Given the description of an element on the screen output the (x, y) to click on. 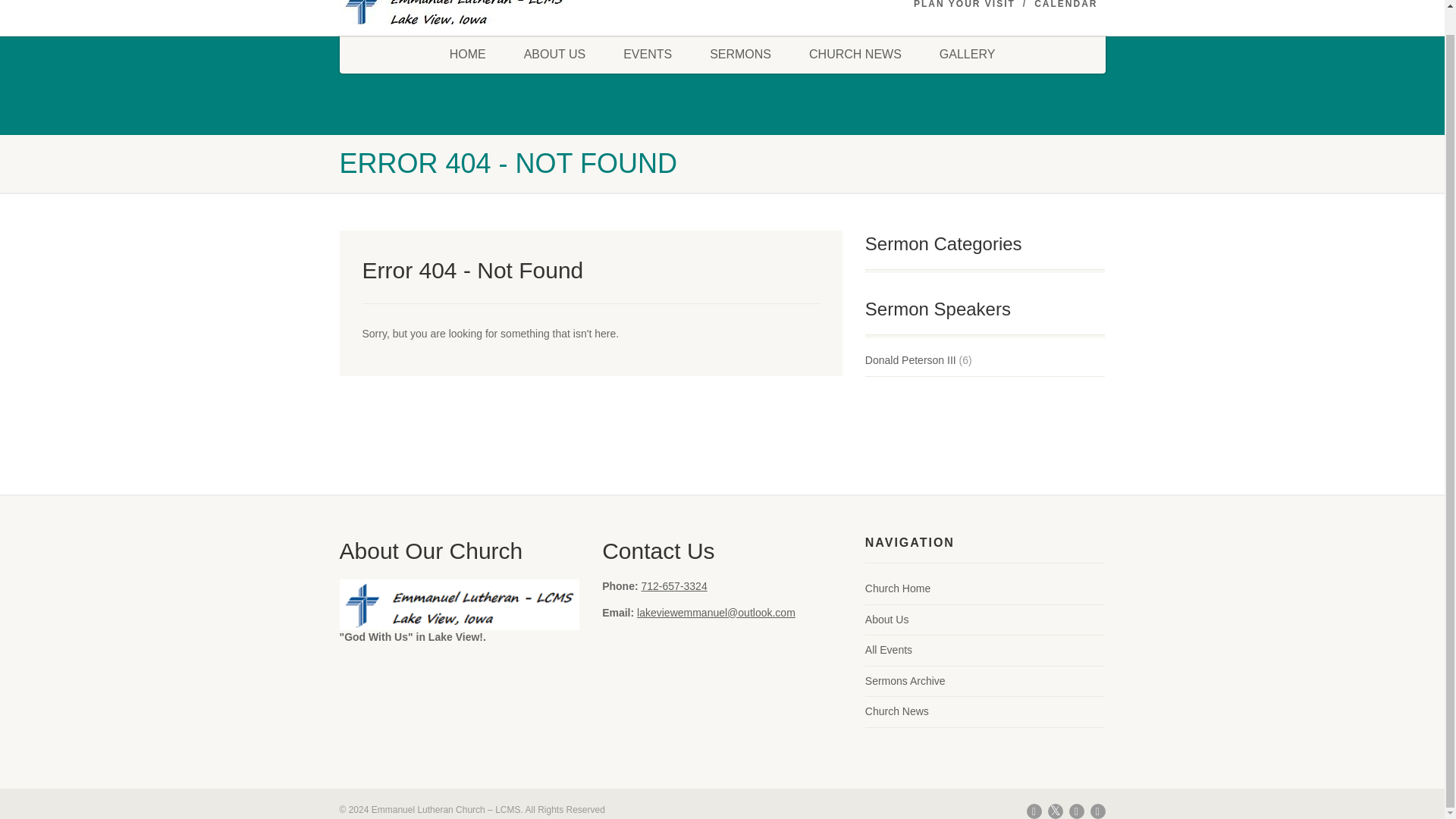
CHURCH NEWS (855, 54)
Logo (459, 15)
ABOUT US (555, 54)
HOME (467, 54)
CALENDAR (1065, 5)
Sermons Archive (904, 681)
Donald Peterson III (910, 360)
Church Home (897, 589)
About Us (886, 620)
EVENTS (647, 54)
